Given the description of an element on the screen output the (x, y) to click on. 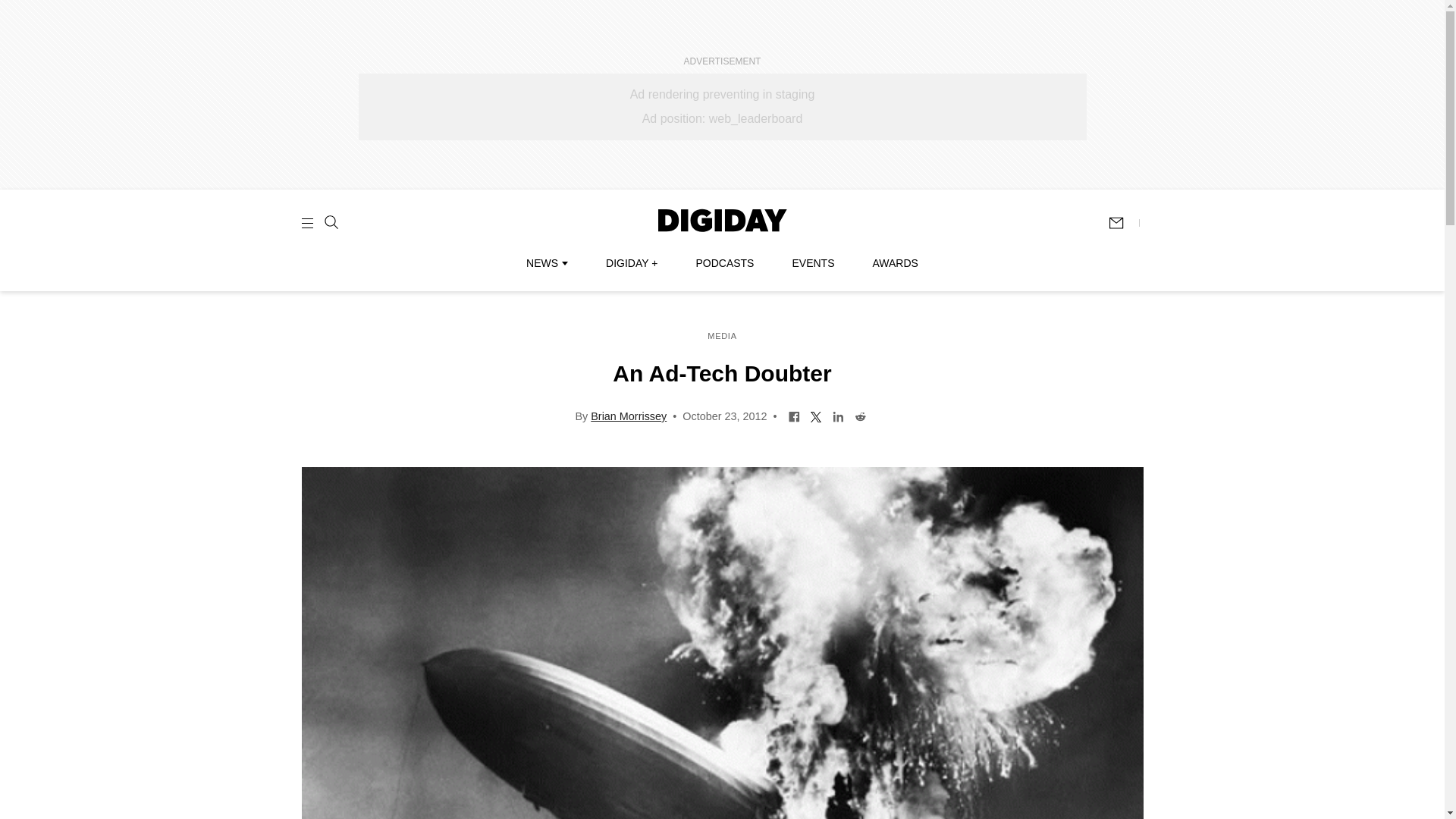
Share on LinkedIn (837, 415)
Share on Facebook (793, 415)
NEWS (546, 262)
Share on Twitter (815, 415)
PODCASTS (725, 262)
Share on Reddit (859, 415)
Subscribe (1123, 223)
EVENTS (813, 262)
AWARDS (894, 262)
